Given the description of an element on the screen output the (x, y) to click on. 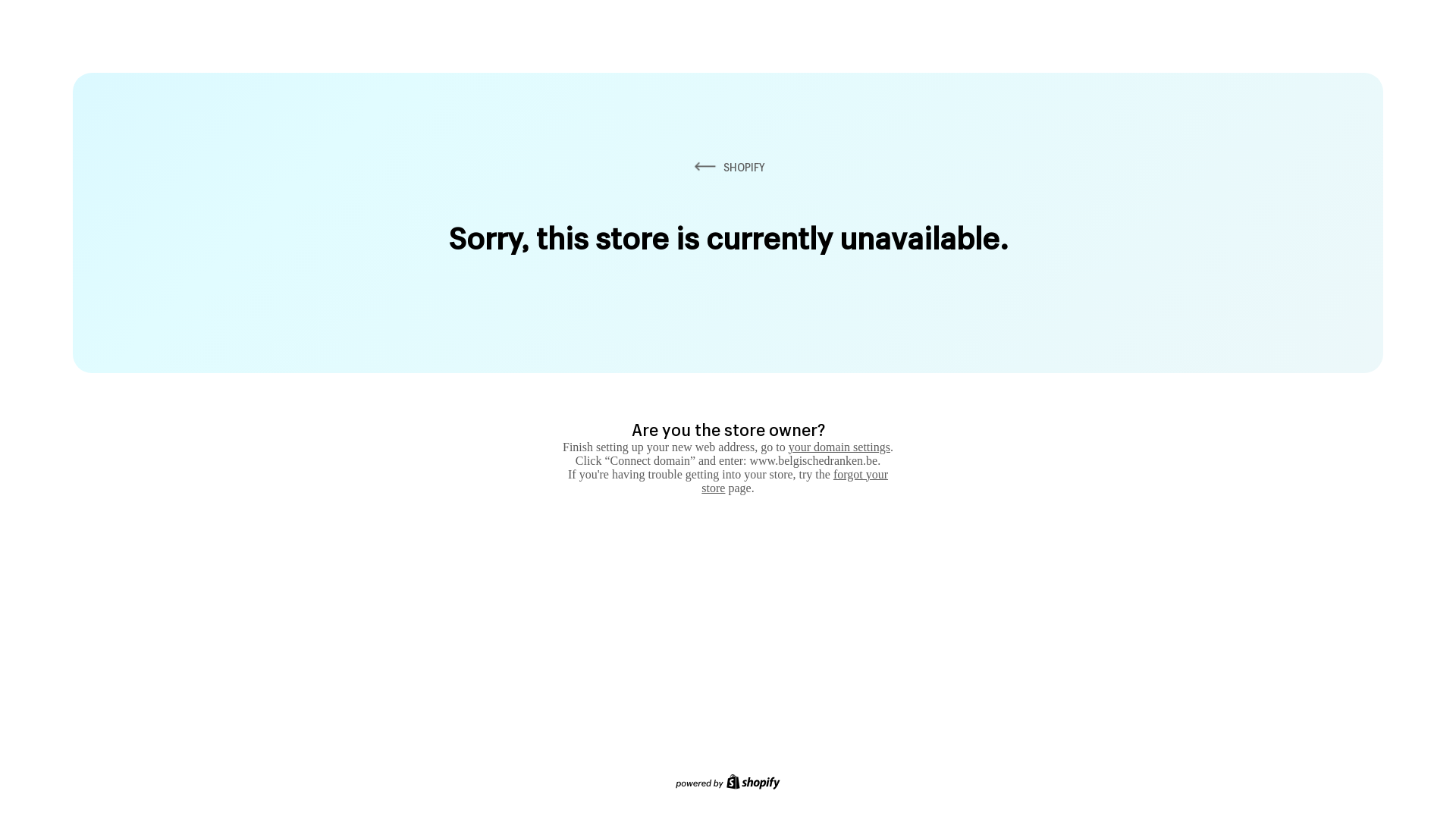
your domain settings Element type: text (839, 446)
forgot your store Element type: text (794, 480)
SHOPIFY Element type: text (727, 167)
